Given the description of an element on the screen output the (x, y) to click on. 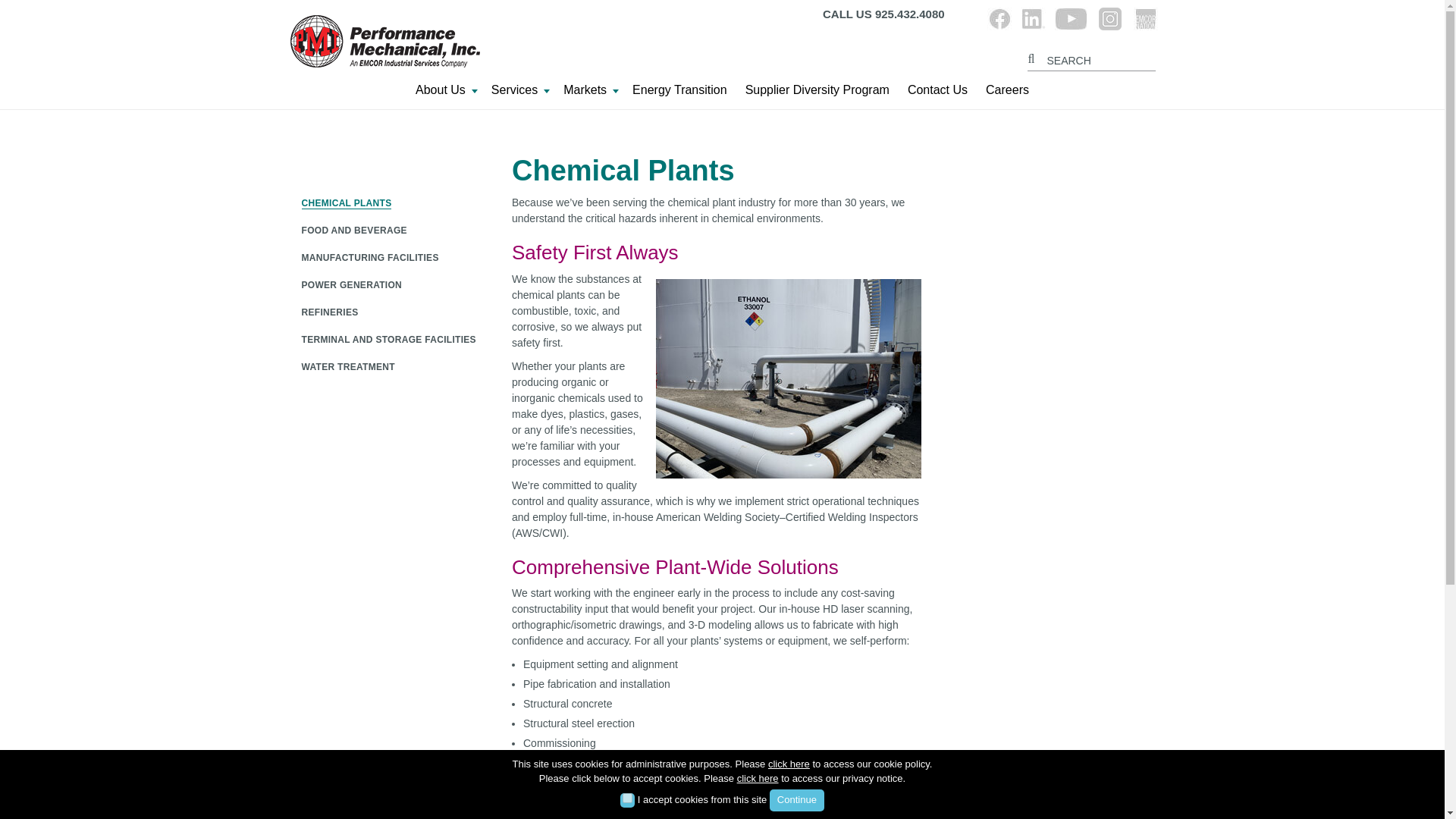
Careers (1007, 93)
Markets (588, 93)
Continue (797, 800)
Contact Us (937, 93)
Supplier Diversity Program (817, 93)
Services (517, 93)
on (627, 798)
925.432.4080 (909, 13)
About Us (443, 93)
Energy Transition (679, 93)
